Given the description of an element on the screen output the (x, y) to click on. 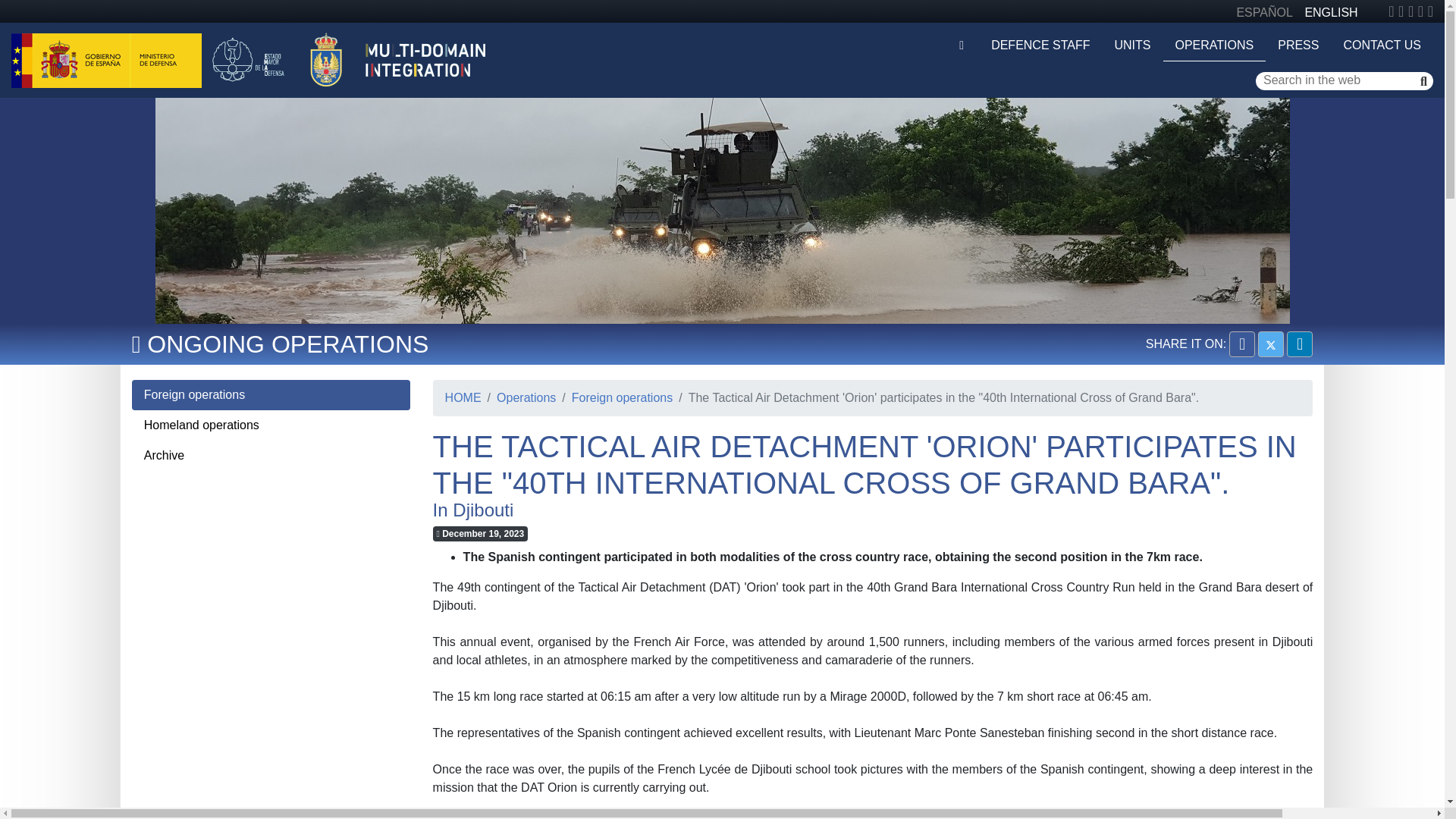
OPERATIONS (1214, 45)
Operations (518, 398)
UNITS (1132, 45)
HOME (463, 398)
Select english language (1330, 11)
ENGLISH (1330, 11)
SHARE ON FACEBOOK (1241, 344)
SHARE ON LINKEDIN (1300, 344)
Foreign operations (271, 395)
Archive (271, 455)
